Given the description of an element on the screen output the (x, y) to click on. 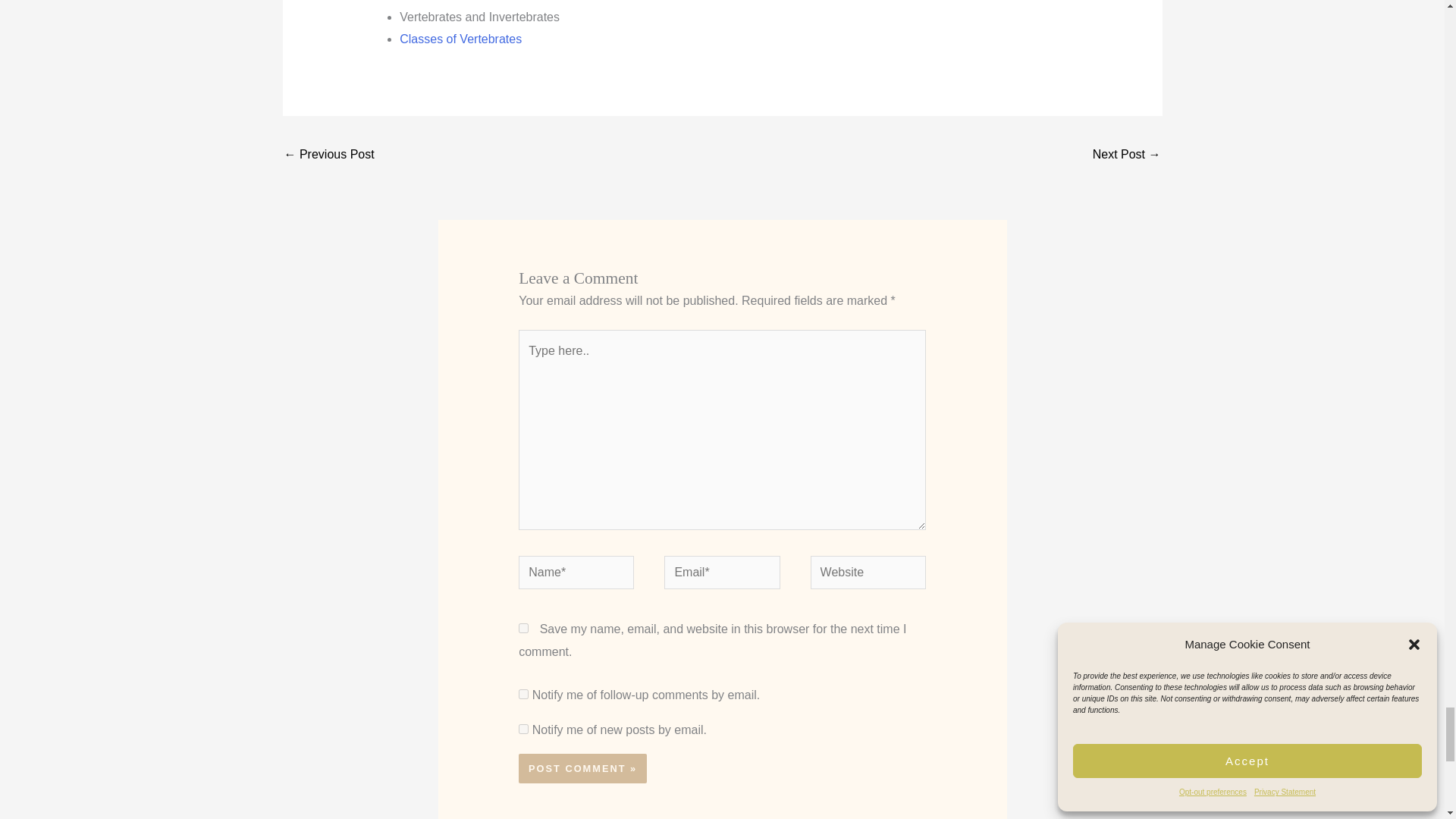
yes (523, 628)
subscribe (523, 694)
All About Montessori Life Science in Preschool (328, 154)
subscribe (523, 728)
